Given the description of an element on the screen output the (x, y) to click on. 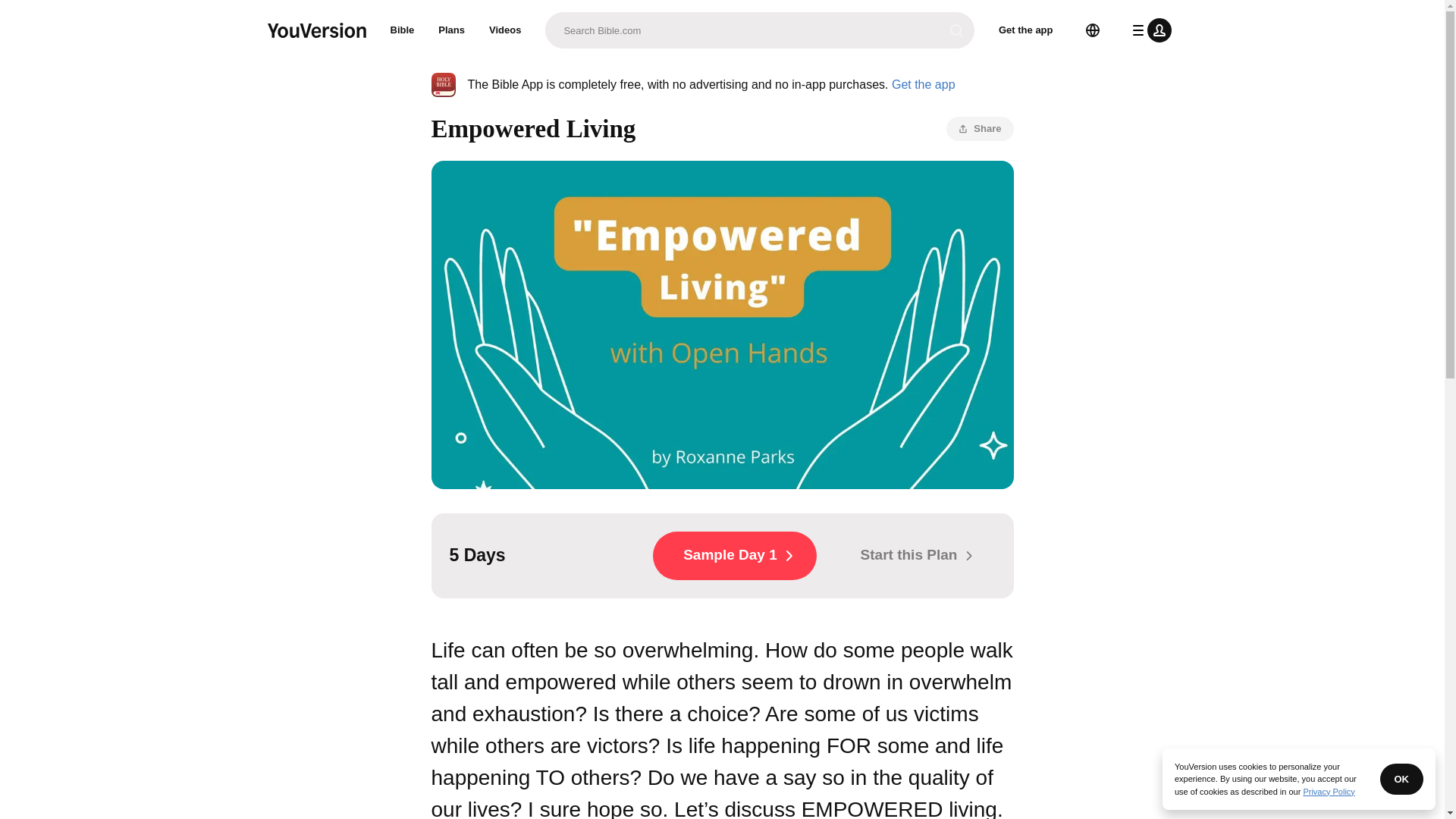
Bible (401, 29)
Sample Day 1 (734, 555)
Videos (504, 29)
Start this Plan (911, 555)
Share (979, 128)
Plans (451, 29)
Get the app (923, 83)
Bible Icon (442, 84)
Get the app (1026, 29)
